Given the description of an element on the screen output the (x, y) to click on. 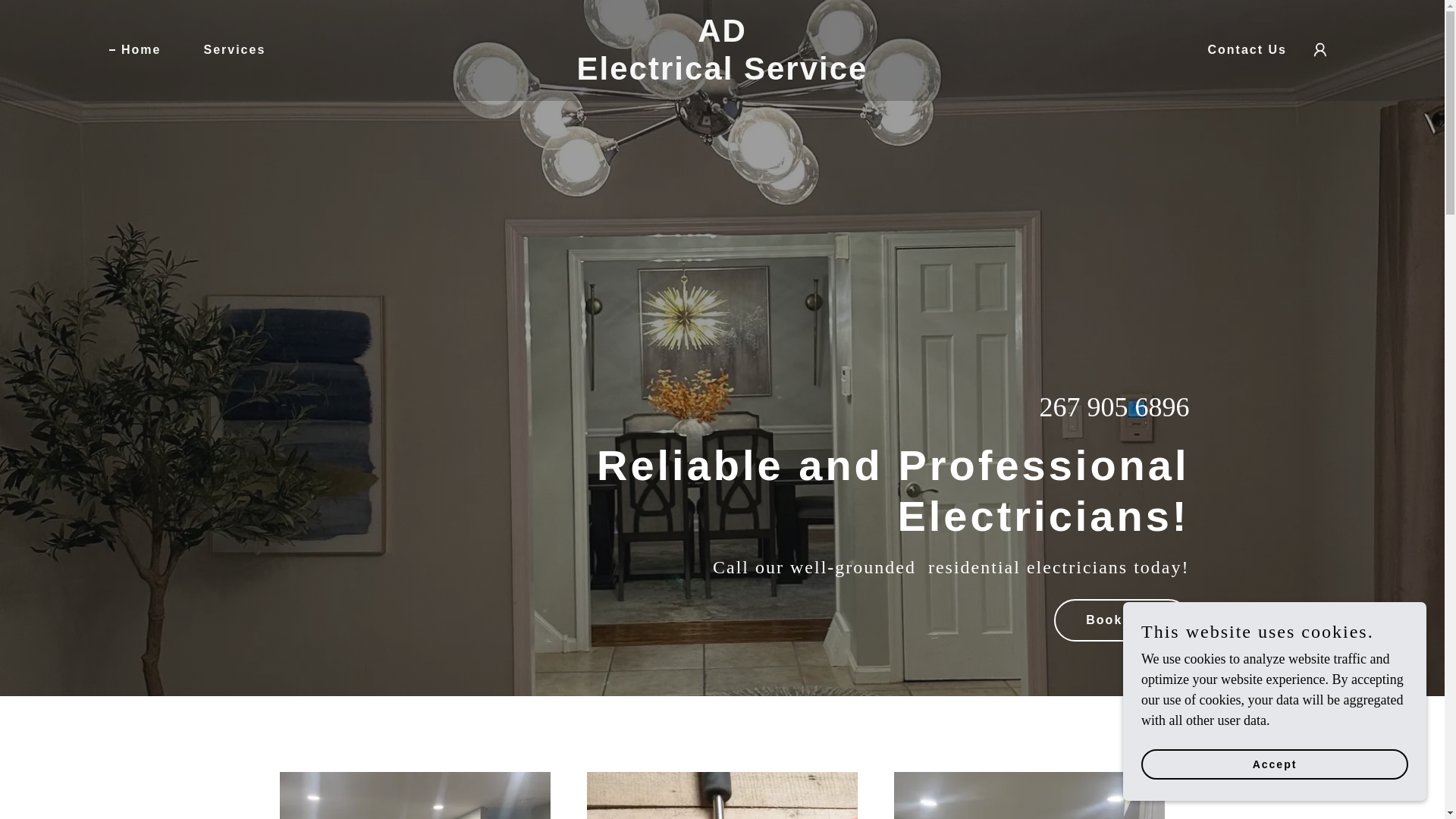
267 905 6896 (1114, 407)
Home (722, 74)
Services (134, 49)
Contact Us (722, 74)
Book Now (227, 49)
